Given the description of an element on the screen output the (x, y) to click on. 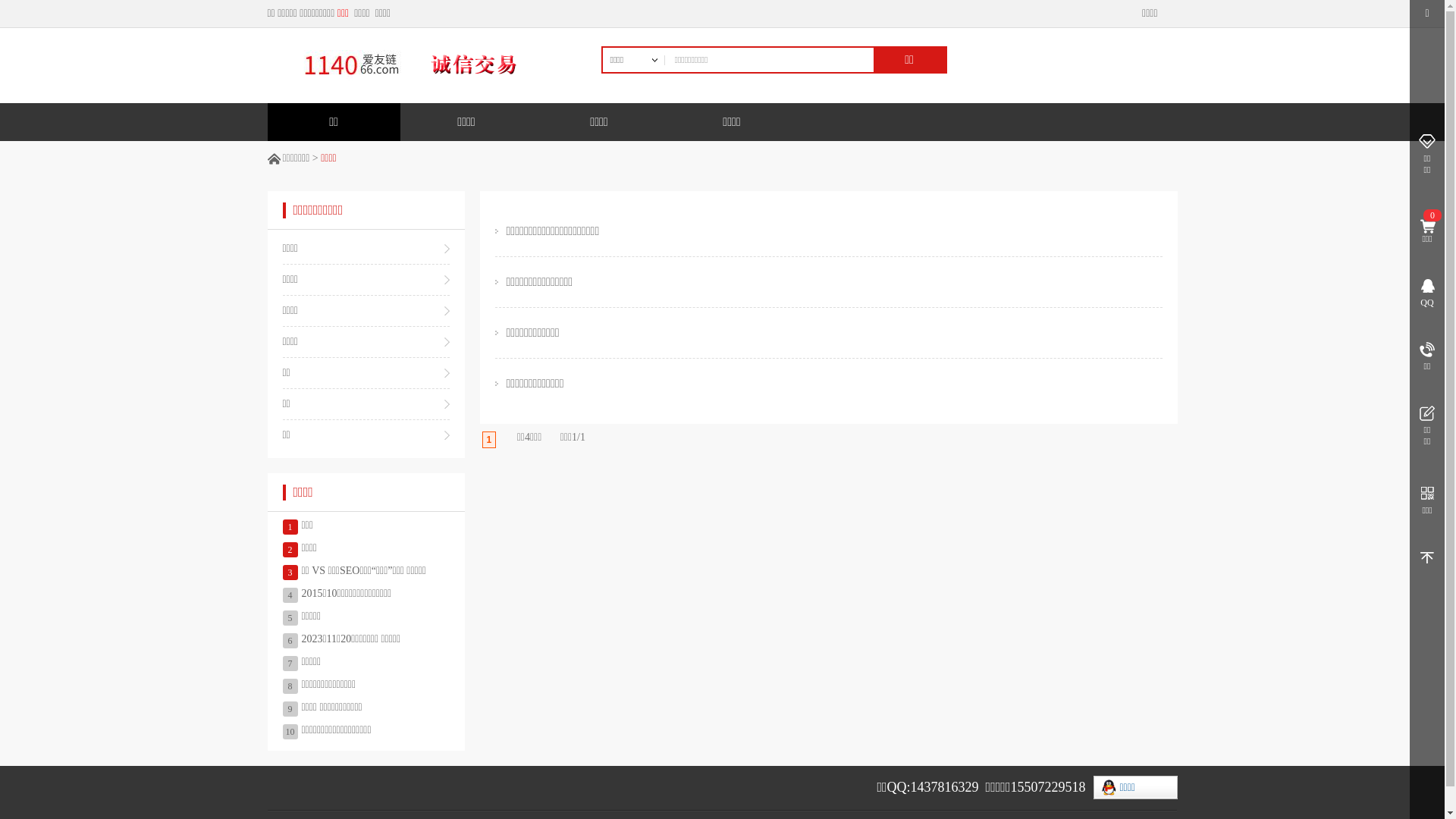
1 Element type: text (489, 439)
